Given the description of an element on the screen output the (x, y) to click on. 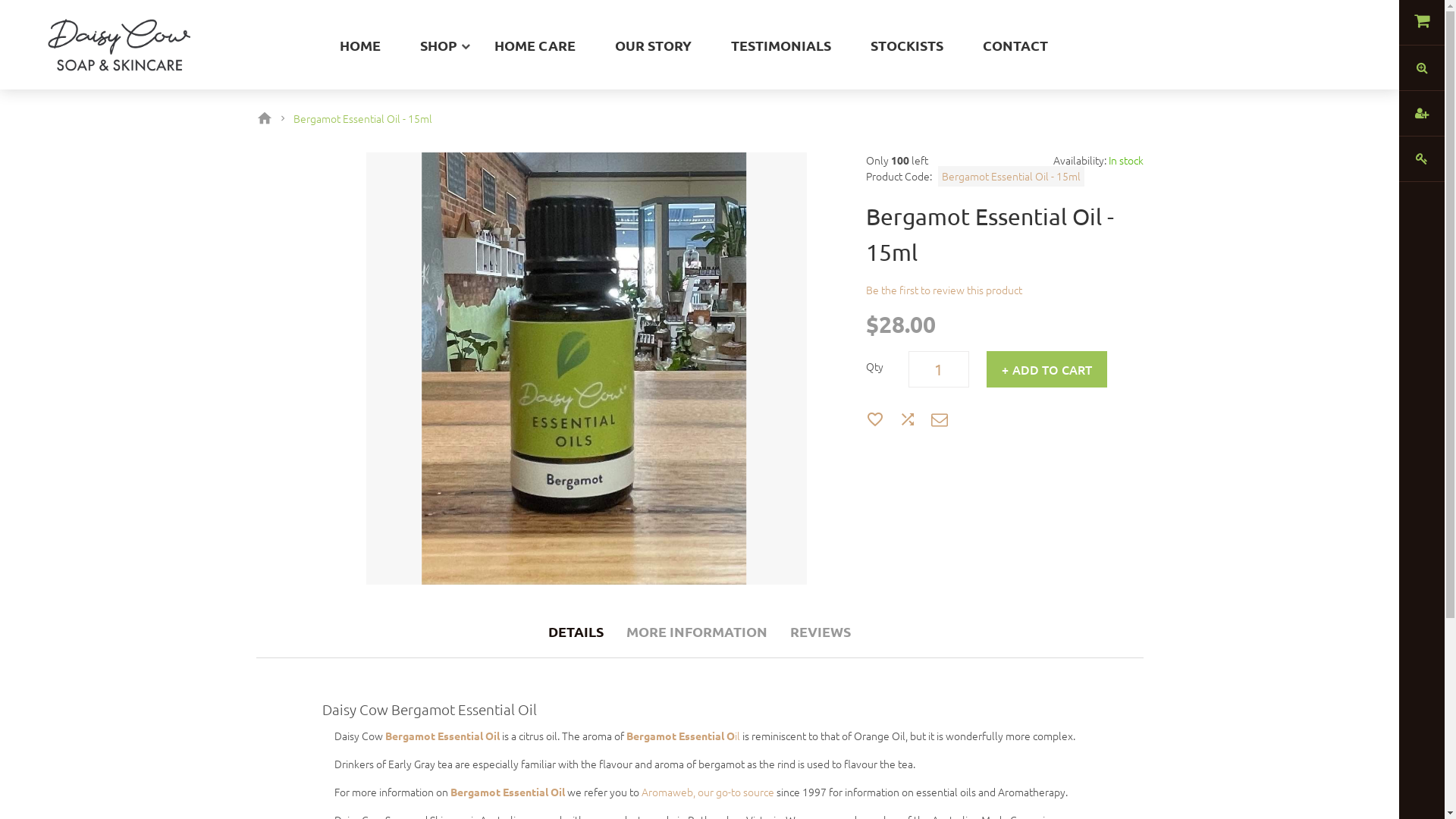
HOME CARE Element type: text (534, 45)
Aromaweb, our go-to source Element type: text (707, 791)
TESTIMONIALS Element type: text (780, 45)
Daisy Cow Element type: hover (118, 20)
SHOP Element type: text (438, 45)
Be the first to review this product Element type: text (944, 289)
ADD TO CART Element type: text (1045, 369)
DETAILS Element type: text (575, 631)
MORE INFORMATION Element type: text (696, 631)
REVIEWS Element type: text (820, 631)
OUR STORY Element type: text (652, 45)
Home Element type: text (267, 118)
Qty Element type: hover (938, 369)
STOCKISTS Element type: text (906, 45)
HOME Element type: text (359, 45)
CONTACT Element type: text (1015, 45)
